Given the description of an element on the screen output the (x, y) to click on. 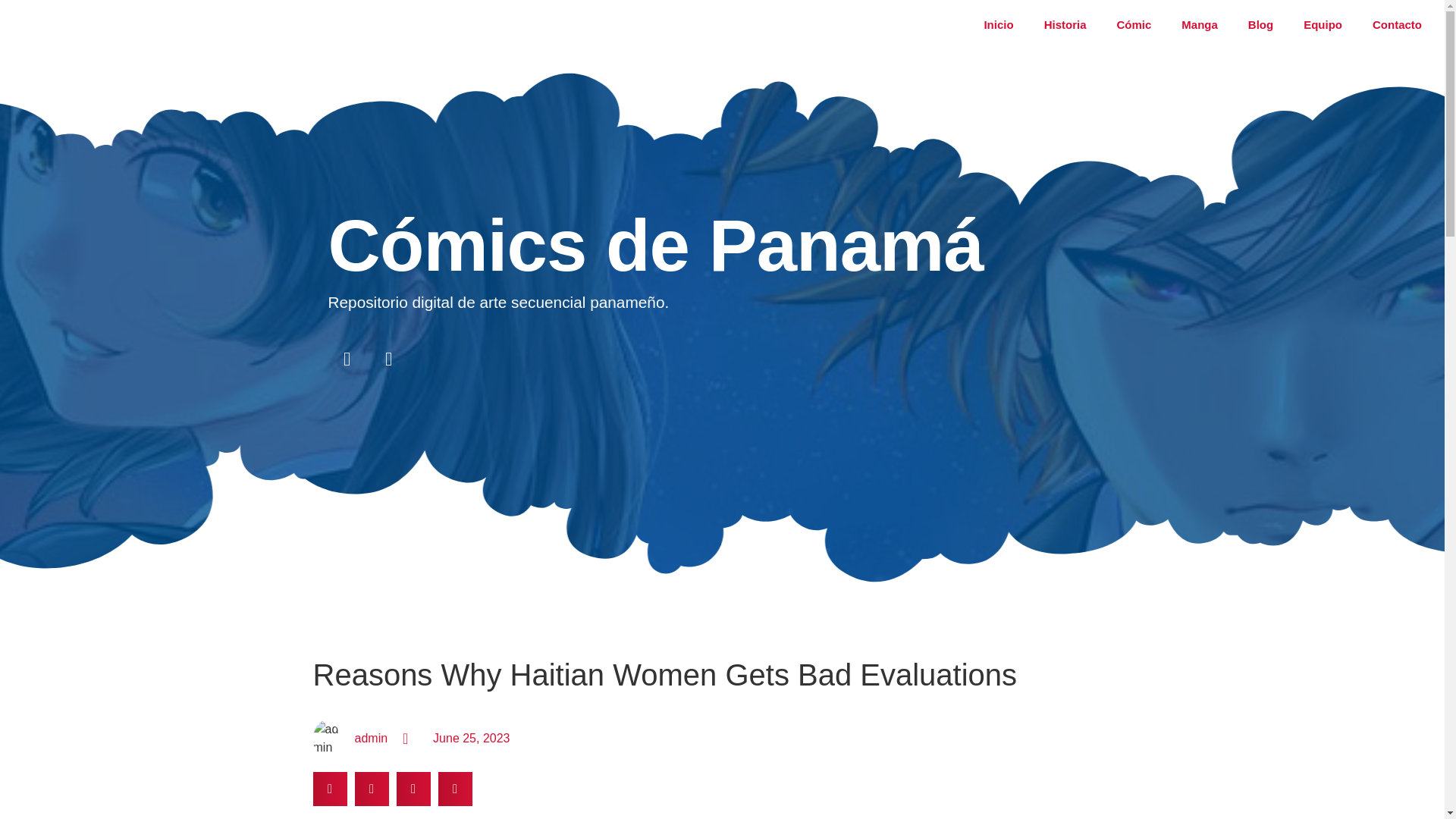
Equipo (1322, 24)
Blog (1260, 24)
Inicio (997, 24)
Contacto (1396, 24)
Historia (1065, 24)
Manga (1199, 24)
